Given the description of an element on the screen output the (x, y) to click on. 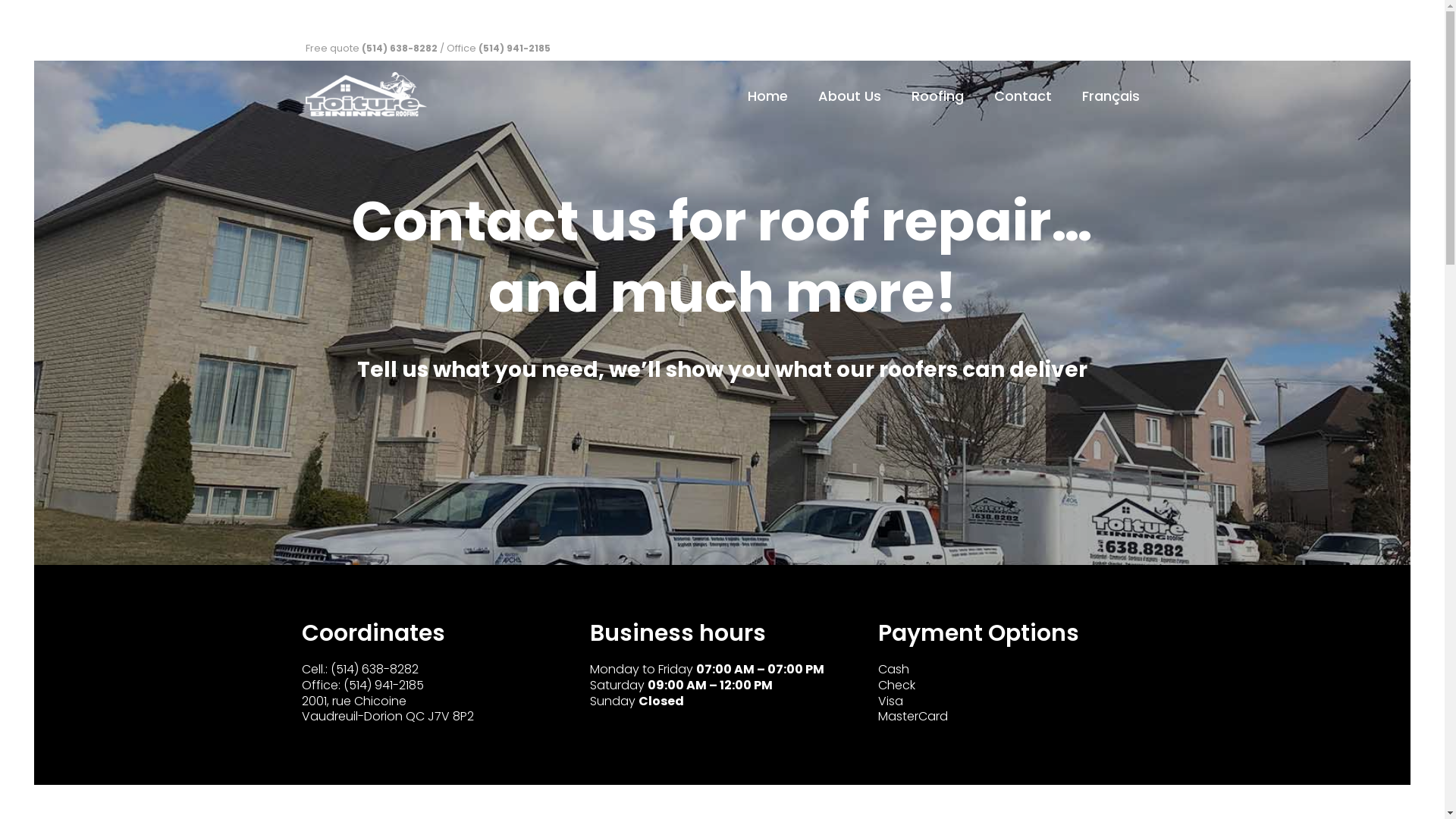
Contact Element type: text (1022, 94)
(514) 941-2185 Element type: text (513, 47)
(514) 941-2185 Element type: text (382, 684)
About Us Element type: text (848, 94)
Home Element type: text (767, 94)
Roofing Element type: text (937, 94)
(514) 638-8282 Element type: text (374, 668)
(514) 638-8282 Element type: text (398, 47)
